Given the description of an element on the screen output the (x, y) to click on. 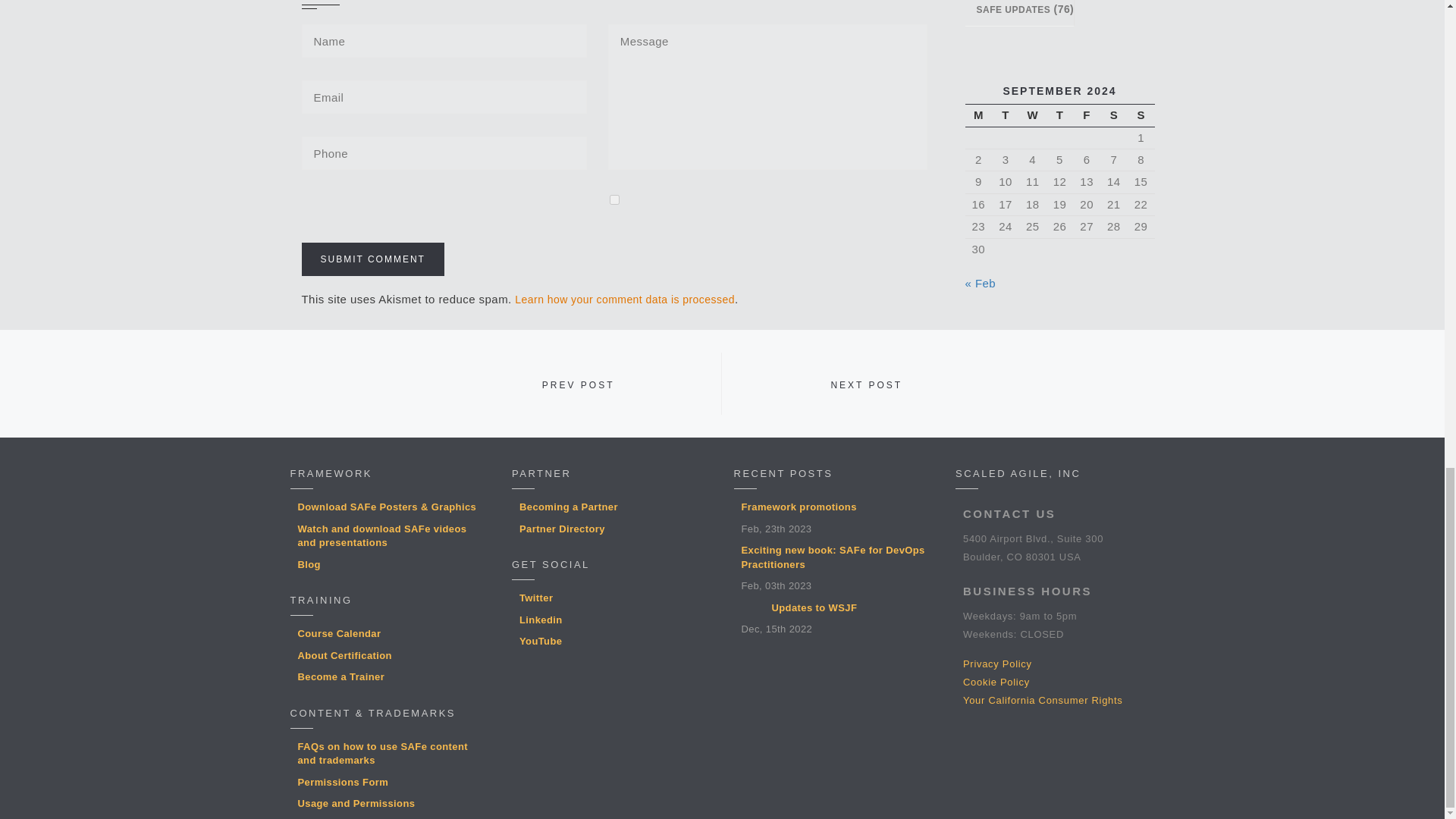
Thursday (1060, 115)
Wednesday (1032, 115)
Monday (977, 115)
Sunday (1140, 115)
Submit Comment (372, 259)
yes (614, 199)
Saturday (1113, 115)
Friday (1086, 115)
Tuesday (1005, 115)
